Given the description of an element on the screen output the (x, y) to click on. 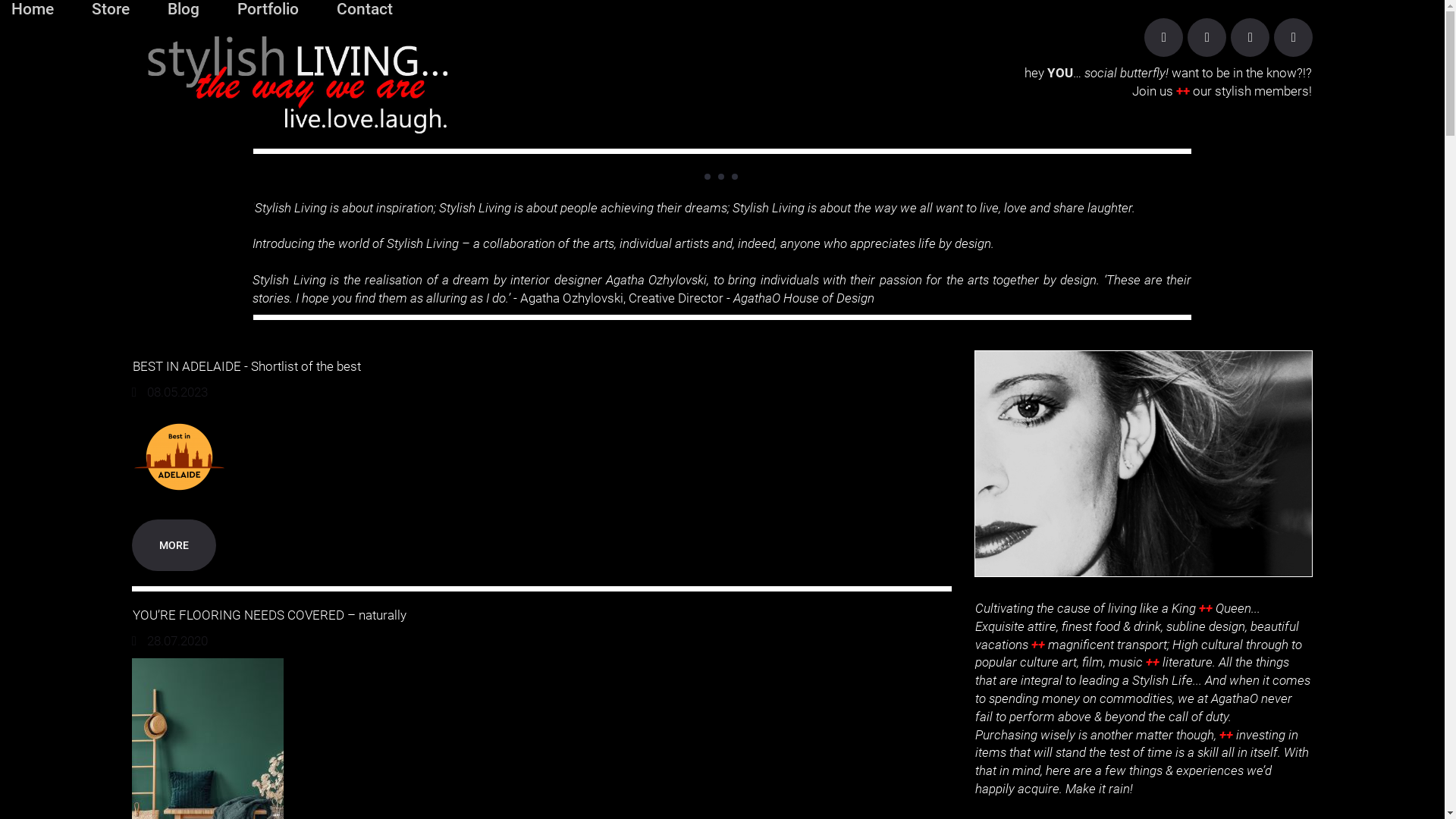
Home Element type: text (32, 9)
Store Element type: text (110, 9)
Portfolio Element type: text (267, 9)
MORE Element type: text (173, 545)
BEST IN ADELAIDE - Shortlist of the best Element type: text (246, 365)
Blog Element type: text (183, 9)
Contact Element type: text (364, 9)
